Given the description of an element on the screen output the (x, y) to click on. 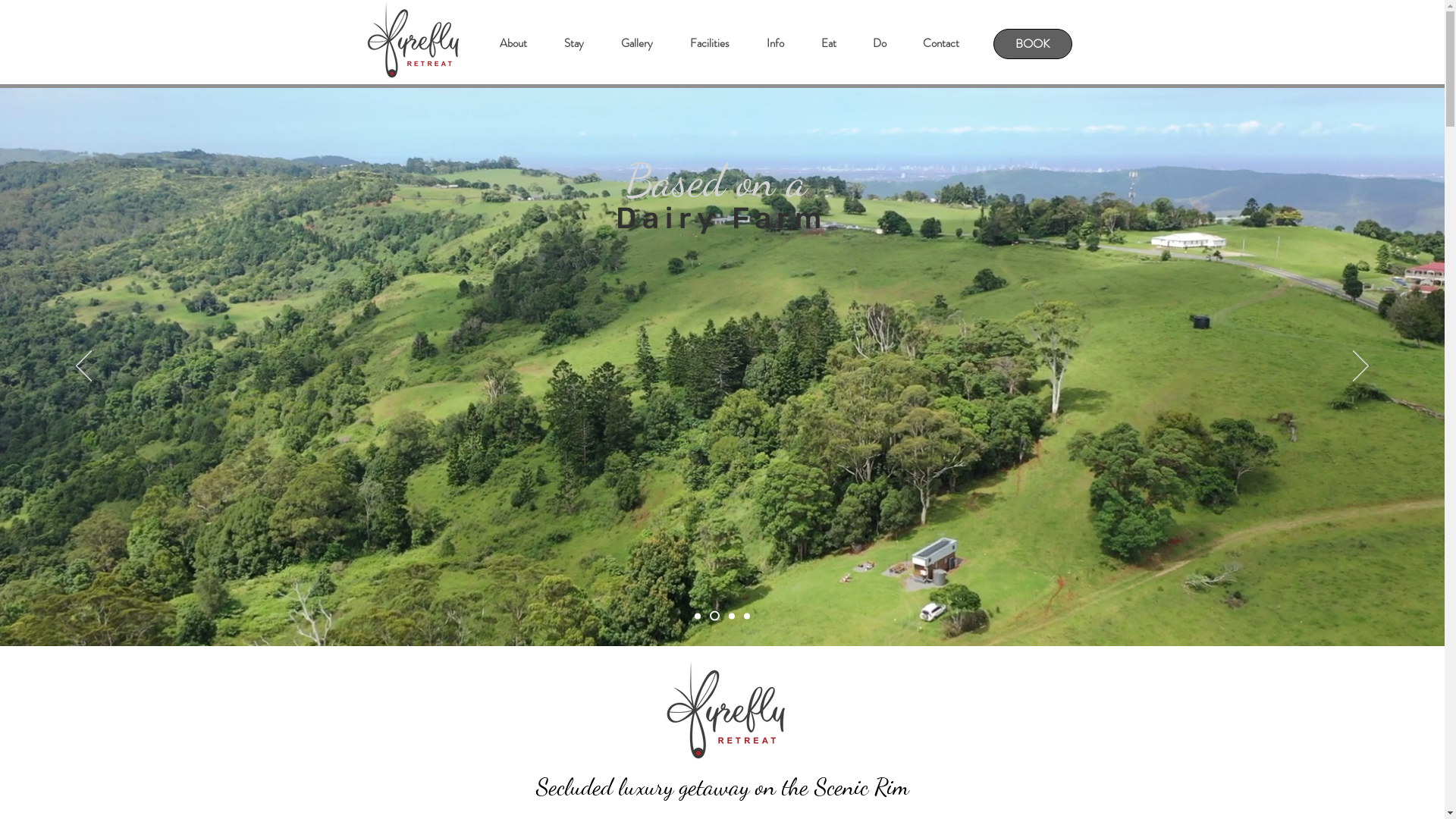
Do Element type: text (878, 43)
BOOK Element type: text (1032, 43)
About Element type: text (512, 43)
Contact Element type: text (939, 43)
Stay Element type: text (572, 43)
Gallery Element type: text (636, 43)
Facilities Element type: text (708, 43)
Eat Element type: text (828, 43)
Info Element type: text (774, 43)
